Given the description of an element on the screen output the (x, y) to click on. 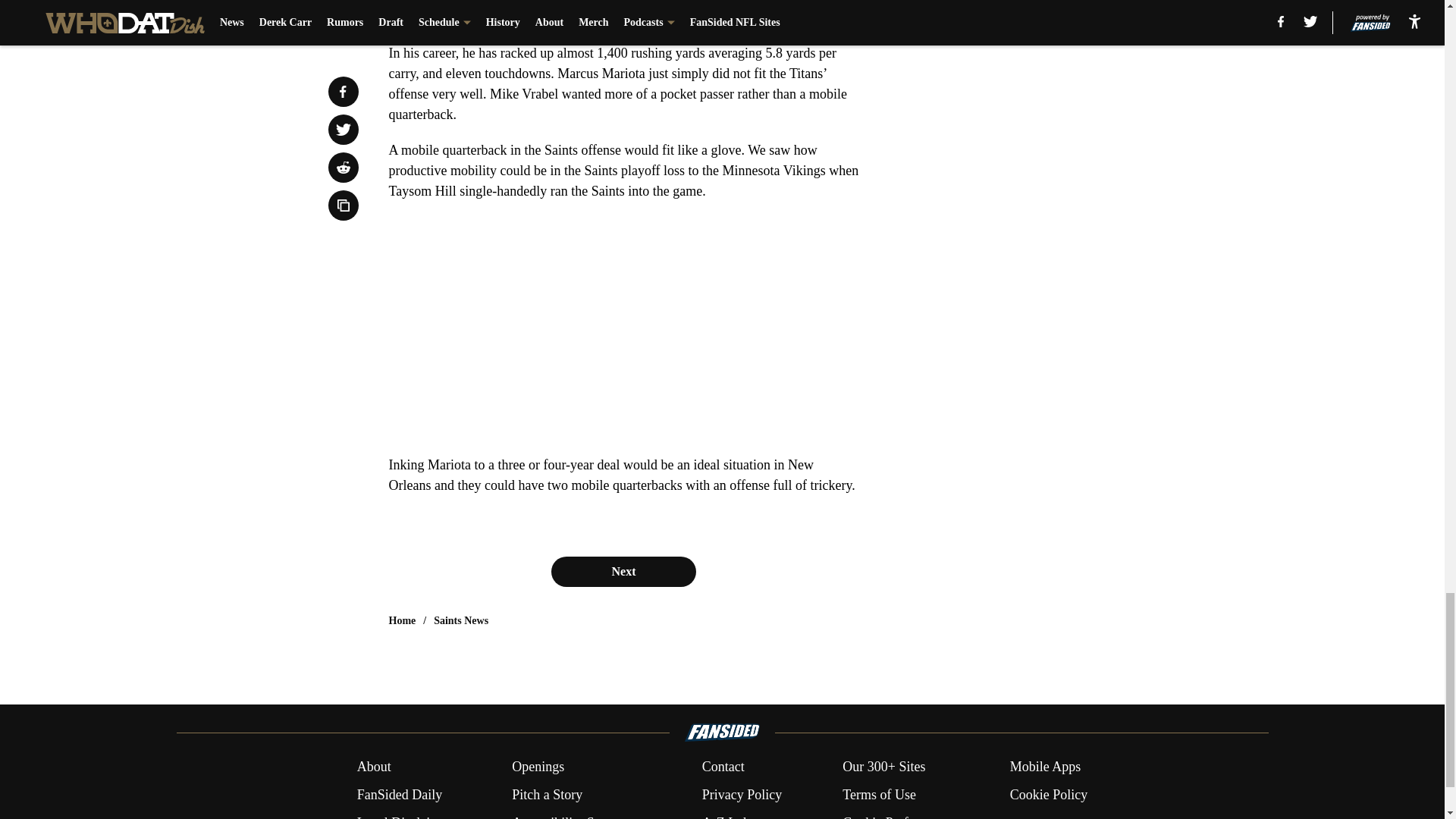
Saints News (460, 620)
Home (401, 620)
Next (622, 571)
